Given the description of an element on the screen output the (x, y) to click on. 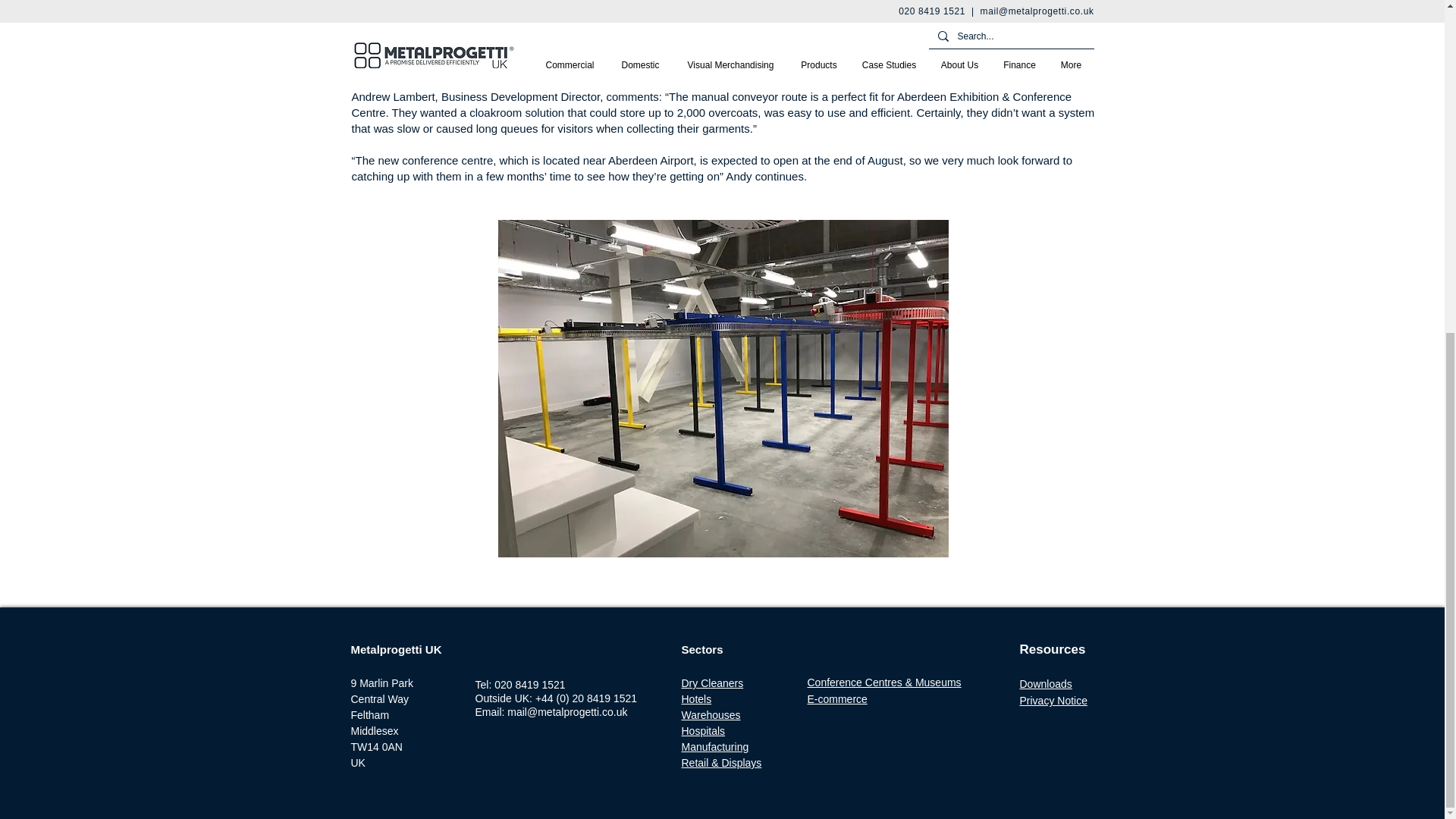
Dry Cleaners (711, 683)
Warehouses (710, 715)
020 8419 1521 (529, 684)
Hotels (696, 698)
Hospitals (703, 730)
